Given the description of an element on the screen output the (x, y) to click on. 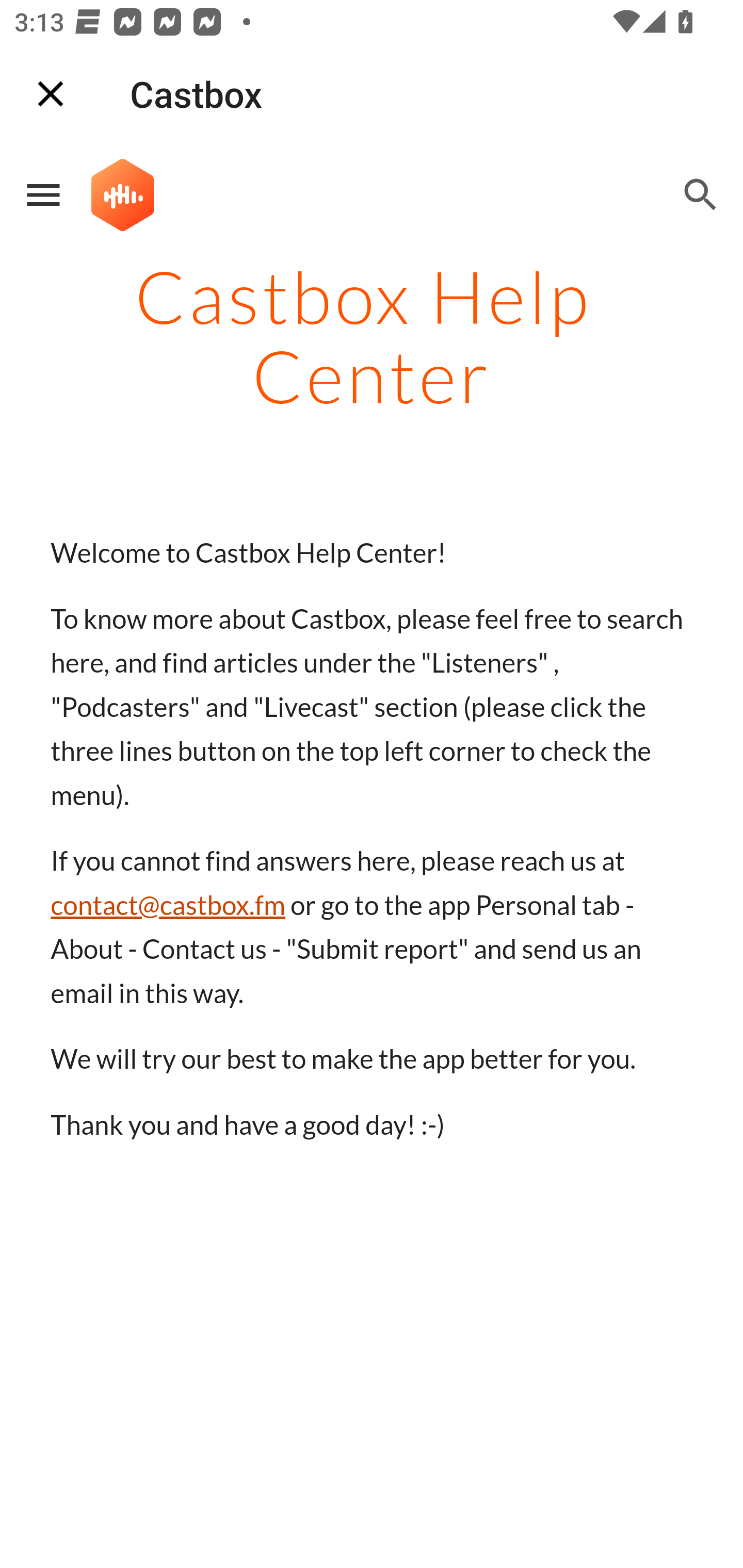
Navigate up (50, 93)
Skip to navigation (608, 210)
contact@castbox.fm (168, 904)
